Given the description of an element on the screen output the (x, y) to click on. 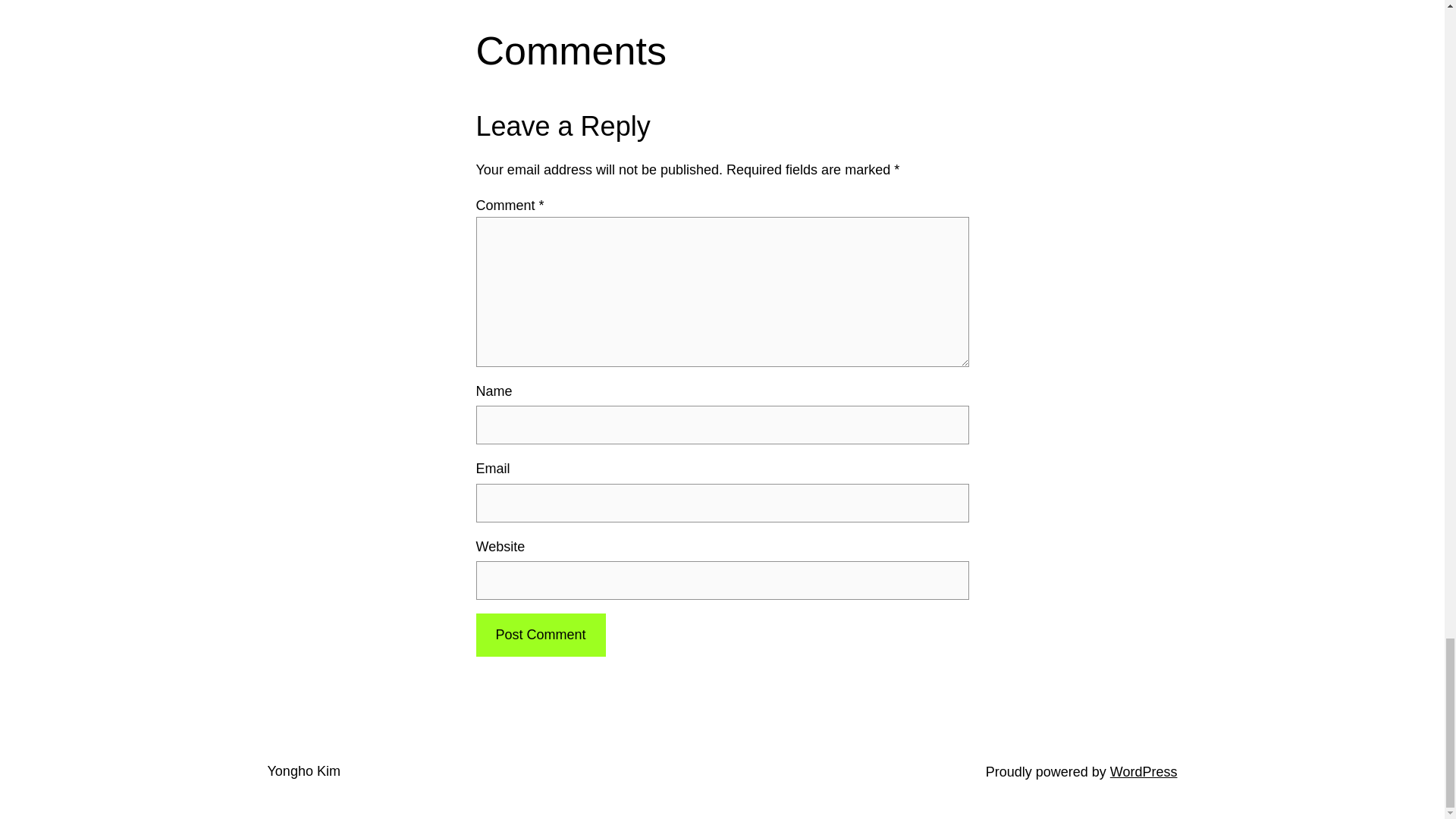
Post Comment (540, 634)
Post Comment (540, 634)
WordPress (1143, 771)
Yongho Kim (302, 770)
